Given the description of an element on the screen output the (x, y) to click on. 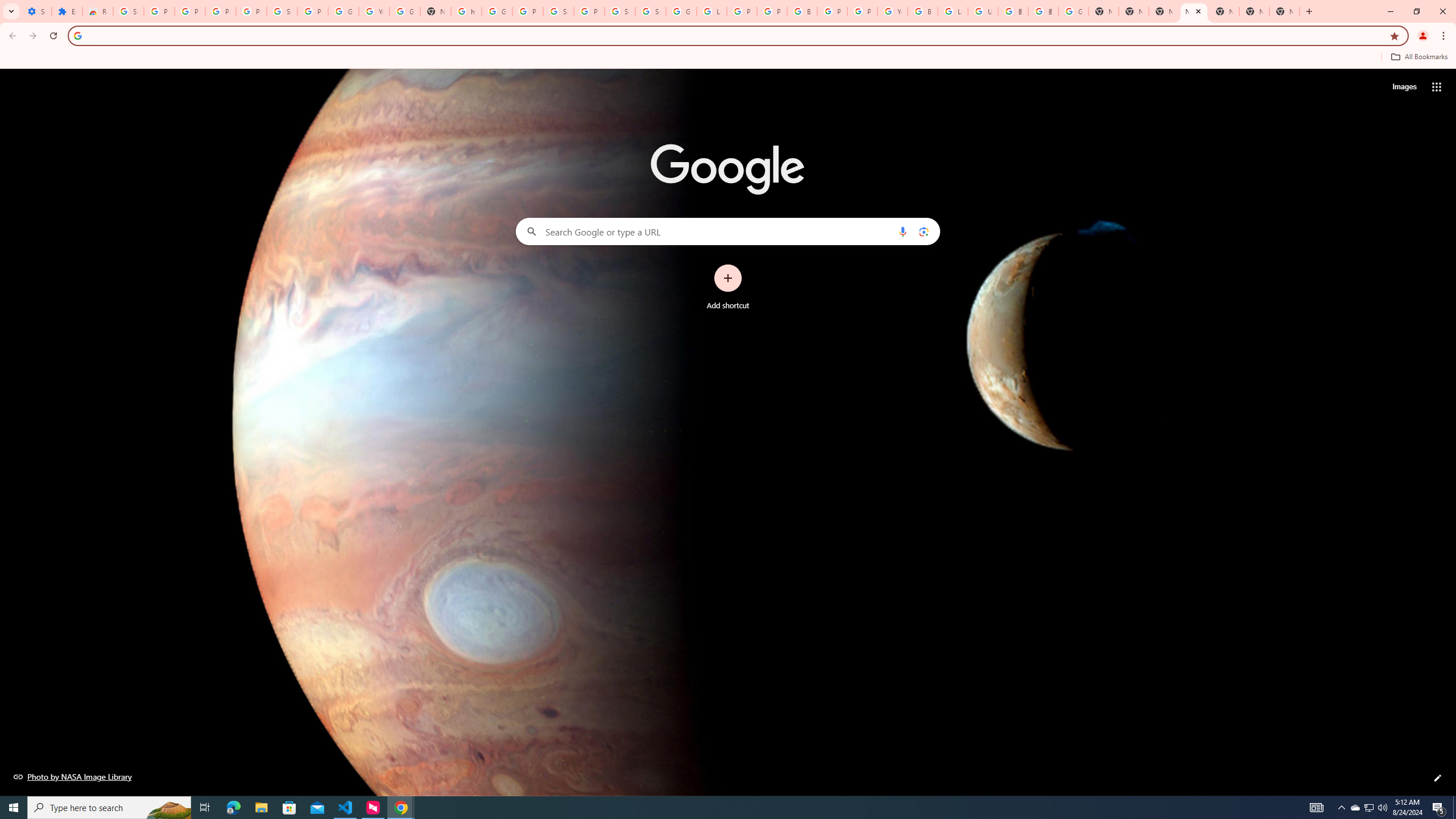
Sign in - Google Accounts (650, 11)
